Given the description of an element on the screen output the (x, y) to click on. 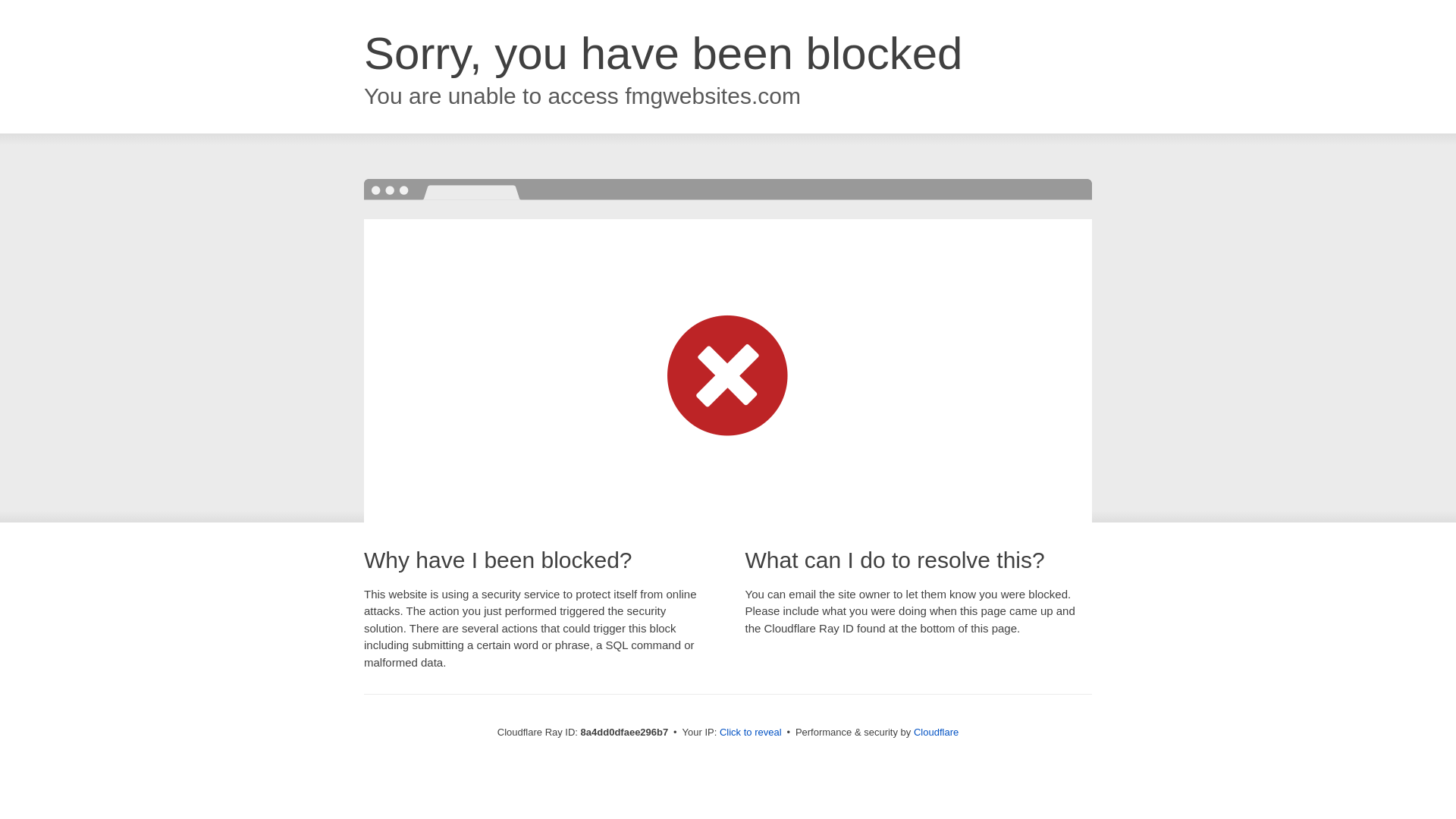
Click to reveal (750, 732)
Cloudflare (936, 731)
